Given the description of an element on the screen output the (x, y) to click on. 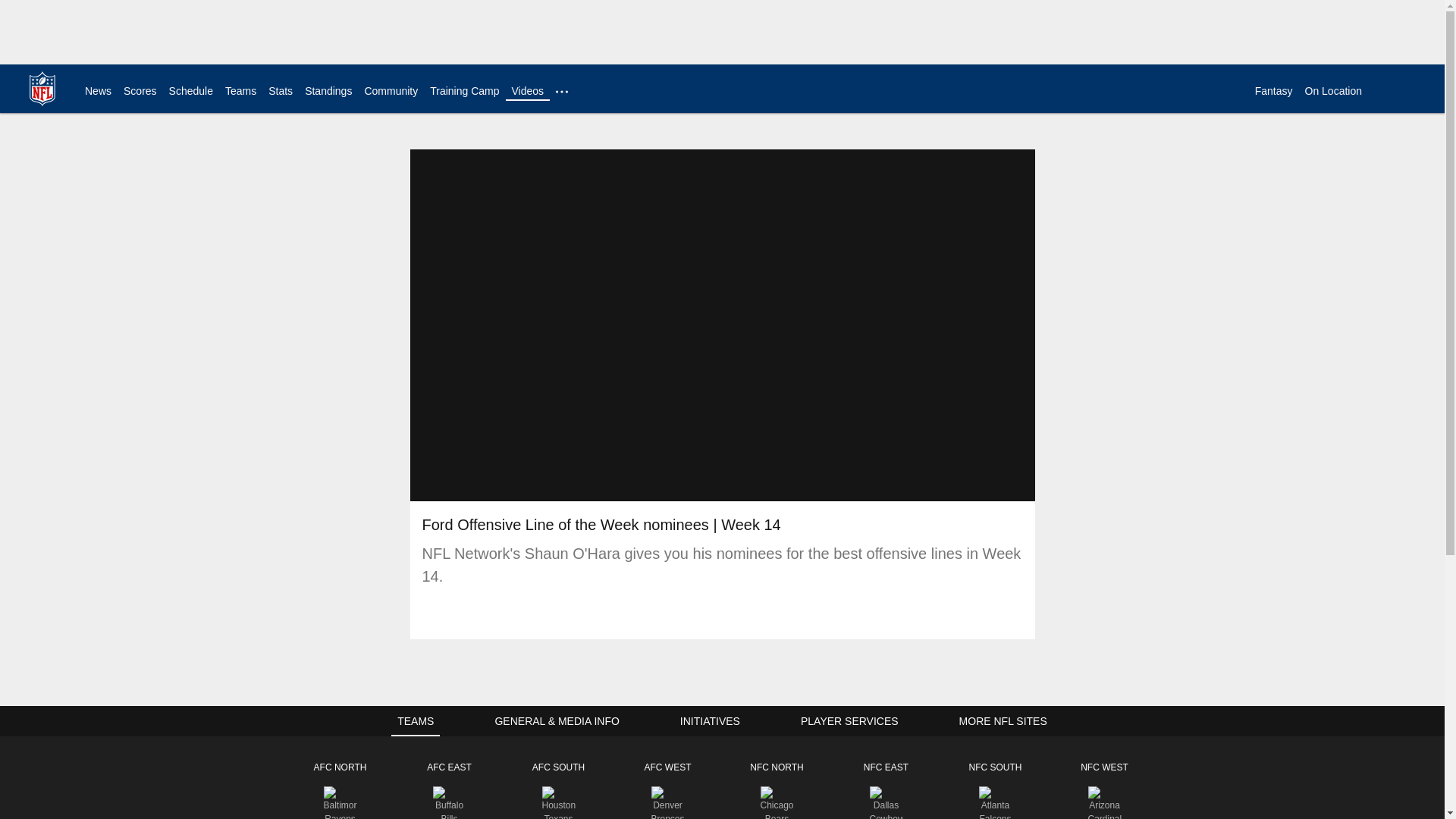
Stats (279, 91)
Teams (240, 91)
Scores (140, 91)
Link to NFL homepage (42, 88)
Teams (240, 91)
News (98, 91)
Schedule (190, 91)
Schedule (190, 91)
Scores (140, 91)
News (98, 91)
